Given the description of an element on the screen output the (x, y) to click on. 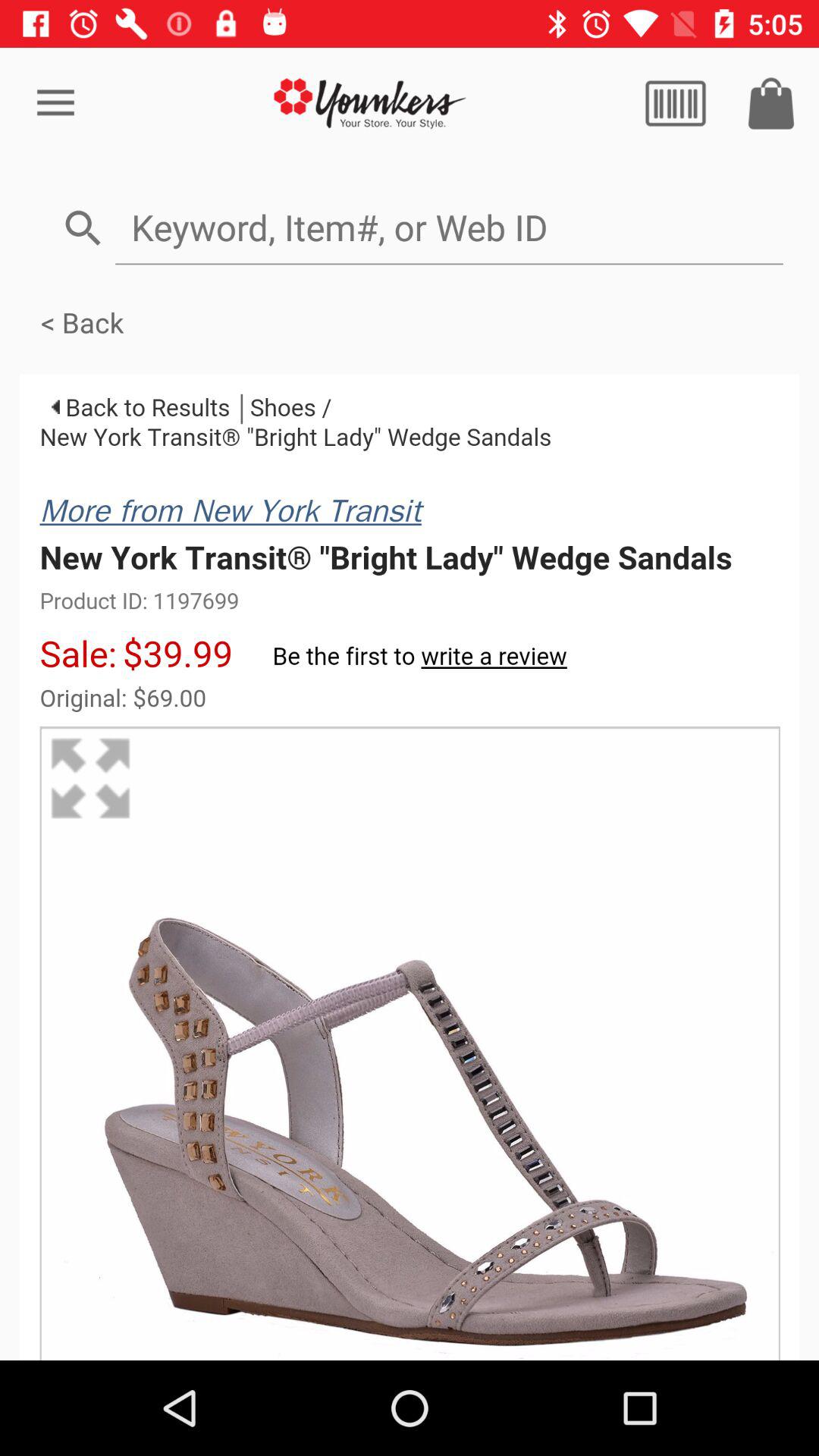
search (675, 103)
